Given the description of an element on the screen output the (x, y) to click on. 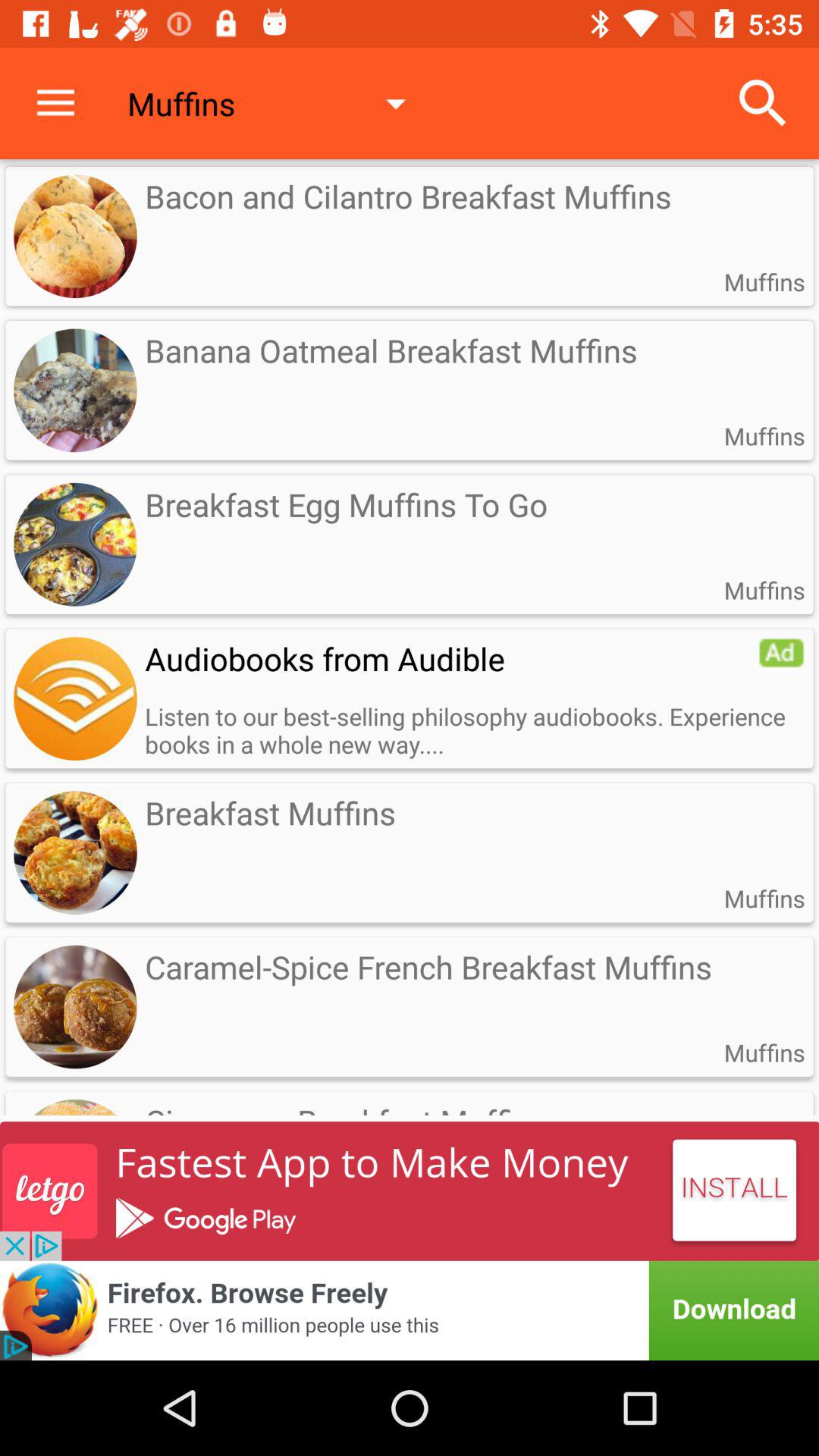
go to install (409, 1190)
